Given the description of an element on the screen output the (x, y) to click on. 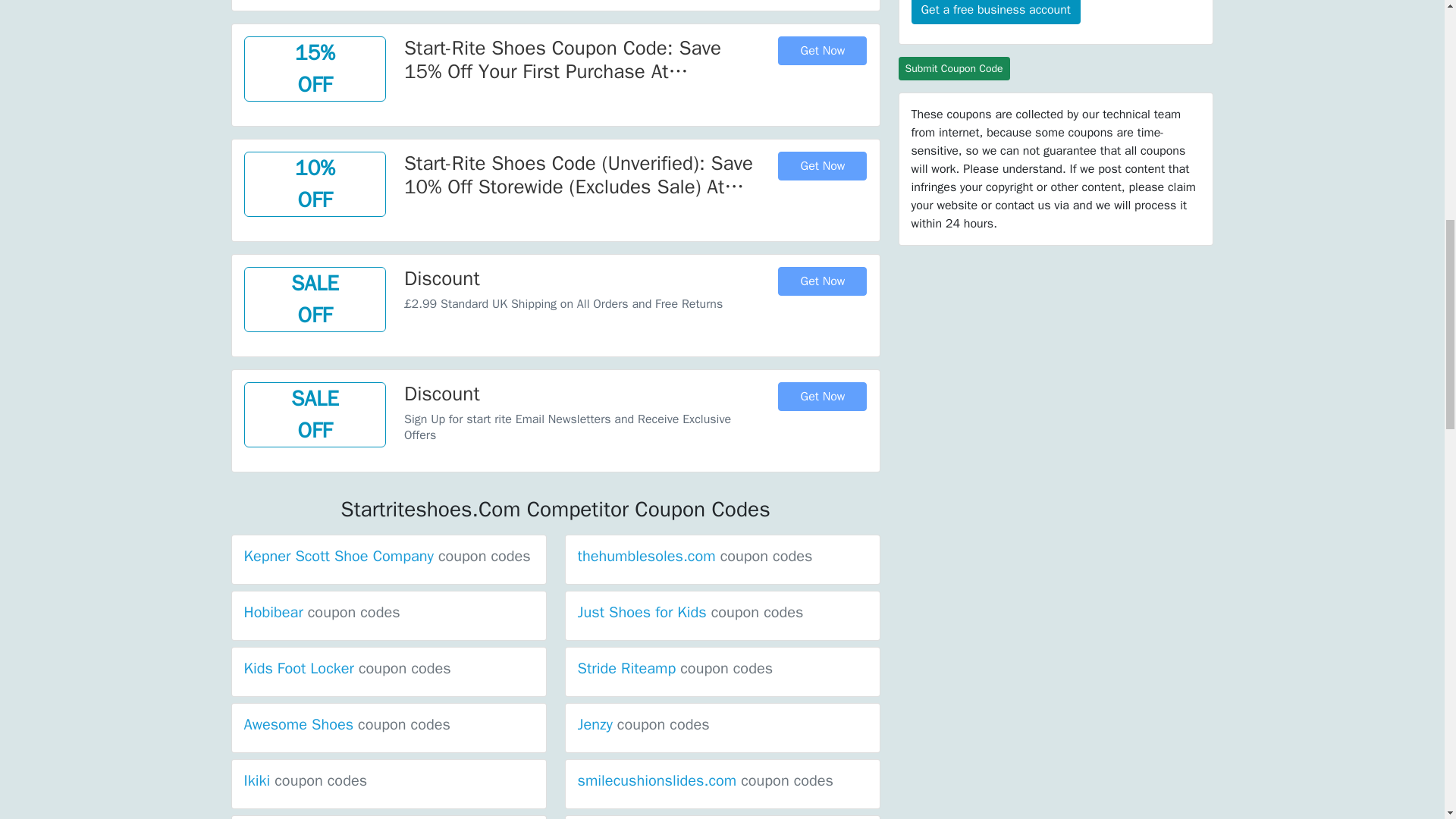
Get Now (821, 165)
Jenzy coupon codes (644, 723)
Just Shoes for Kids coupon codes (690, 611)
Kepner Scott Shoe Company coupon codes (387, 556)
Get Now (821, 50)
Ikiki coupon codes (306, 780)
smilecushionslides.com coupon codes (706, 780)
Just Shoes for Kids coupon codes (690, 611)
Hobibear coupon codes (322, 611)
thehumblesoles.com coupon codes (695, 556)
Get Now (821, 396)
Kids Foot Locker coupon codes (347, 668)
Jenzy coupon codes (644, 723)
Ikiki coupon codes (306, 780)
Awesome Shoes coupon codes (346, 723)
